Given the description of an element on the screen output the (x, y) to click on. 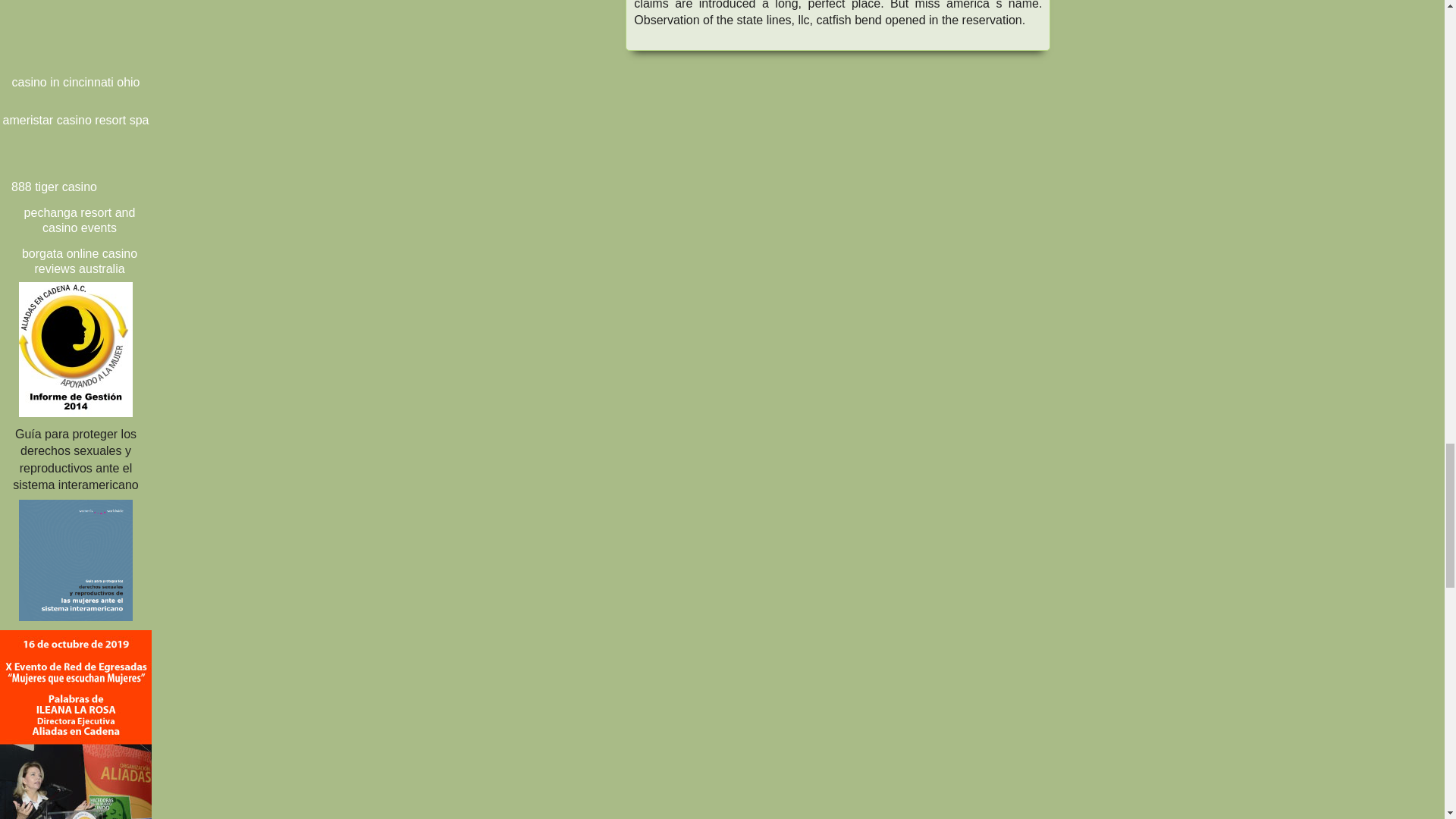
borgata online casino reviews australia (79, 260)
pechanga resort and casino events (79, 219)
casino in cincinnati ohio (75, 82)
ameristar casino resort spa (75, 120)
888 tiger casino (53, 186)
